Given the description of an element on the screen output the (x, y) to click on. 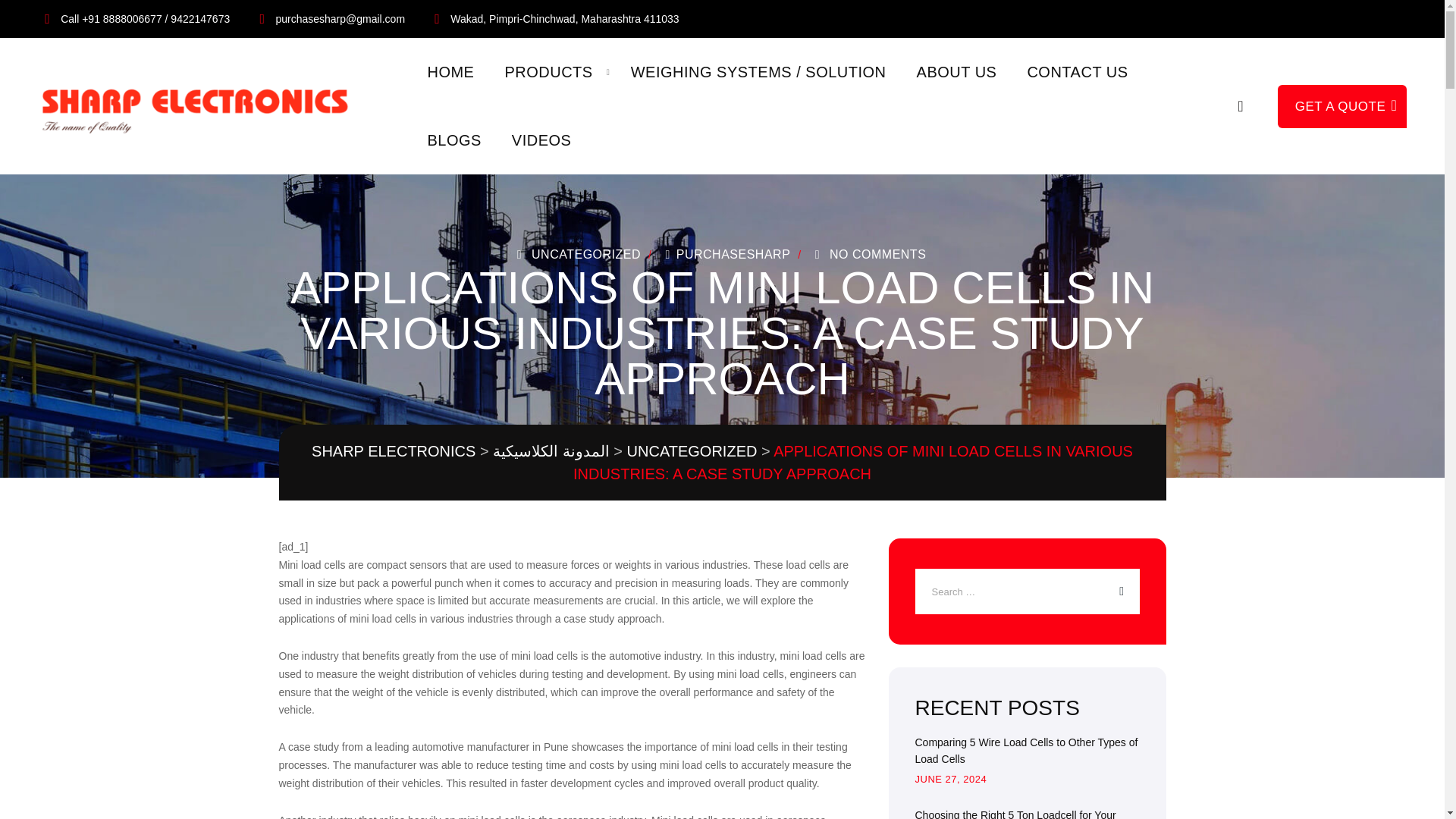
PRODUCTS (547, 71)
Sharp Electronics (201, 105)
VIDEOS (542, 140)
ABOUT US (957, 71)
GET A QUOTE (1342, 106)
Search (1240, 105)
SHARP ELECTRONICS (393, 451)
BLOGS (453, 140)
Go to Sharp Electronics. (393, 451)
Go to the Uncategorized Category archives. (692, 451)
UNCATEGORIZED (585, 254)
PURCHASESHARP (724, 254)
HOME (450, 71)
CONTACT US (1076, 71)
